Given the description of an element on the screen output the (x, y) to click on. 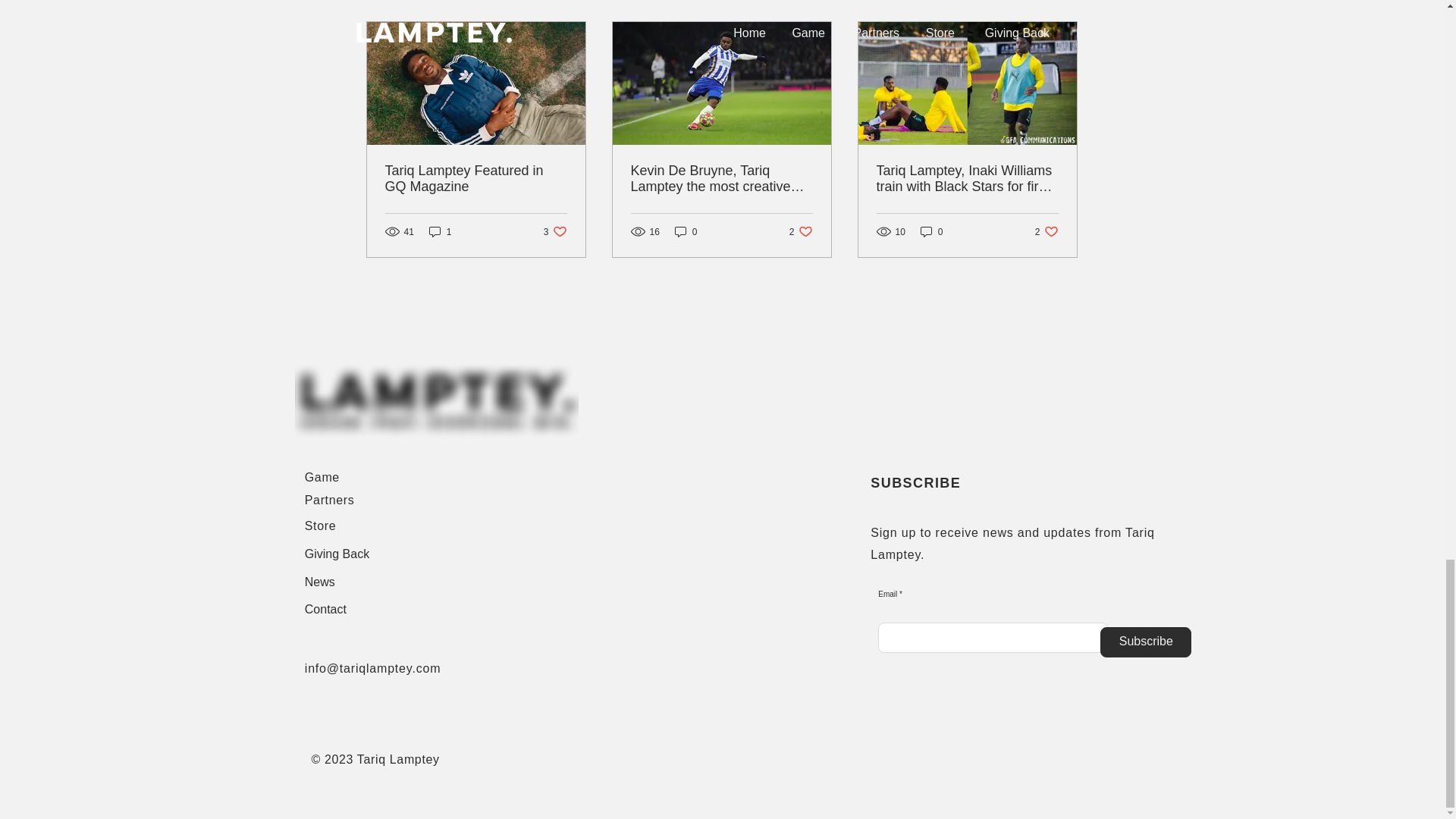
See All (1061, 2)
1 (1046, 231)
Store (440, 231)
Partners (800, 231)
Subscribe (320, 525)
News (329, 499)
0 (1145, 642)
